Given the description of an element on the screen output the (x, y) to click on. 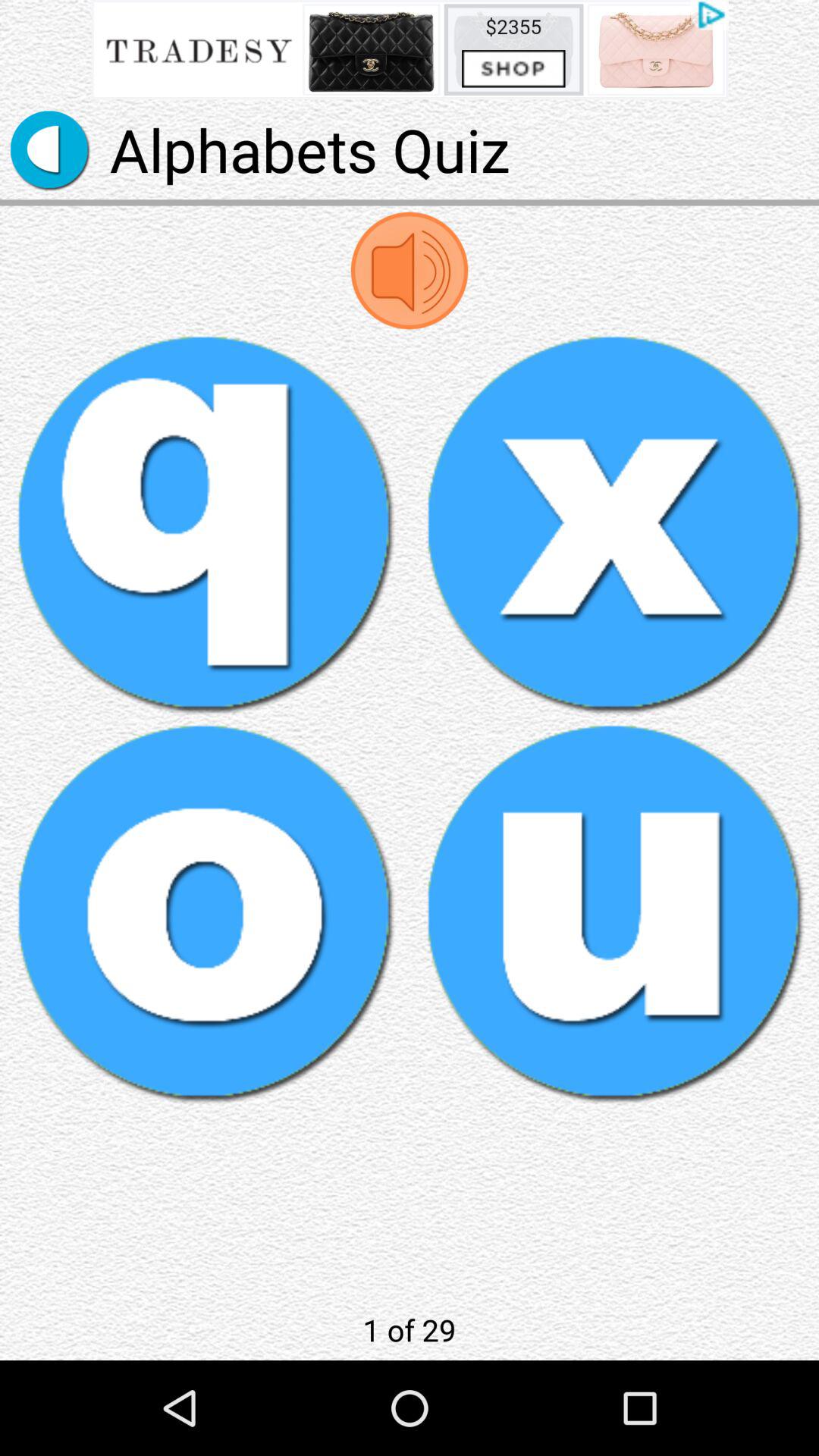
x (614, 523)
